Given the description of an element on the screen output the (x, y) to click on. 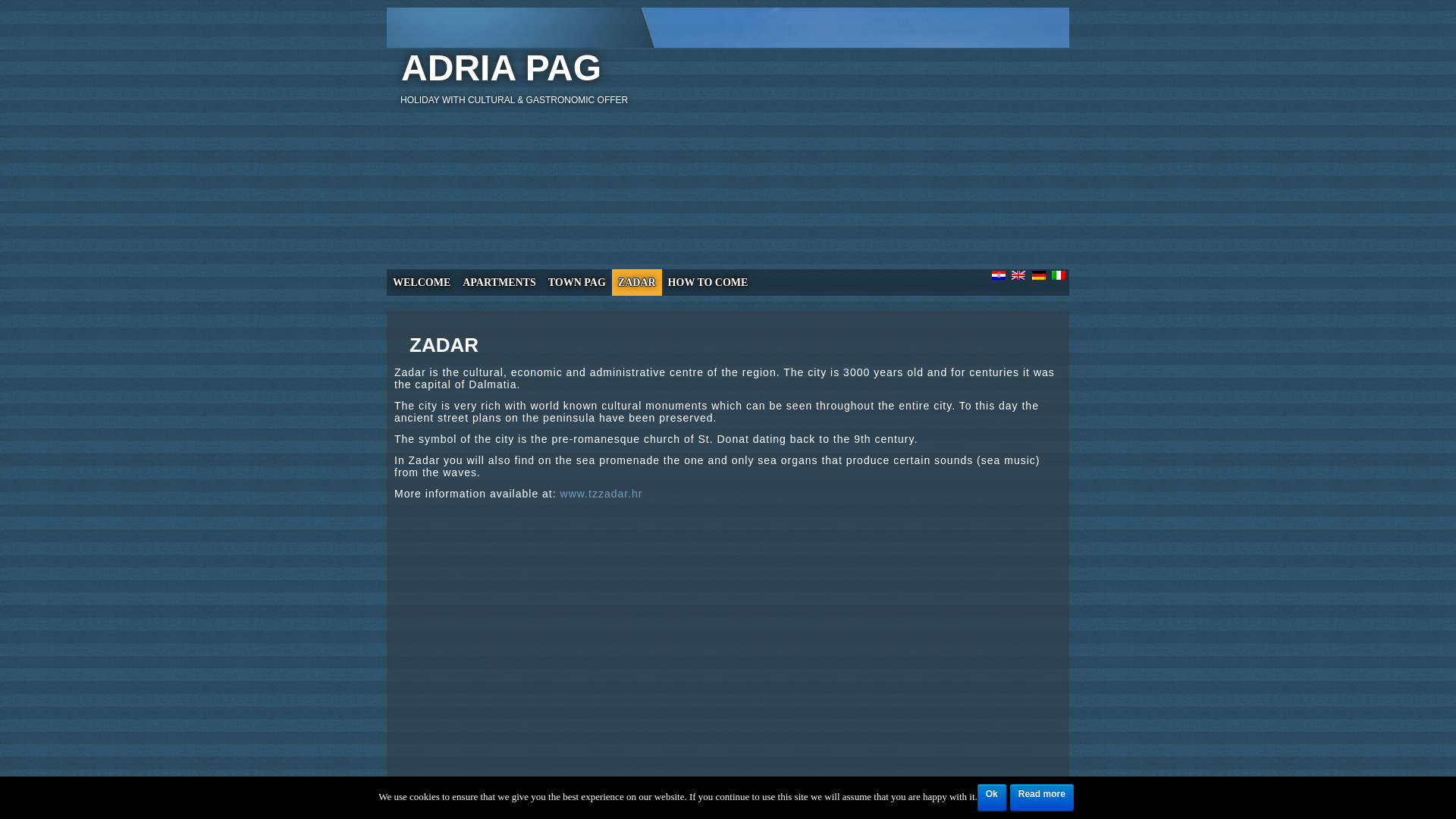
WELCOME (422, 282)
ZADAR (636, 282)
Ok (991, 797)
Town Pag (576, 282)
APARTMENTS (499, 282)
Zadar (636, 282)
TOWN PAG (576, 282)
HOW TO COME (708, 282)
www.tzzadar.hr (601, 493)
Apartments (499, 282)
